Given the description of an element on the screen output the (x, y) to click on. 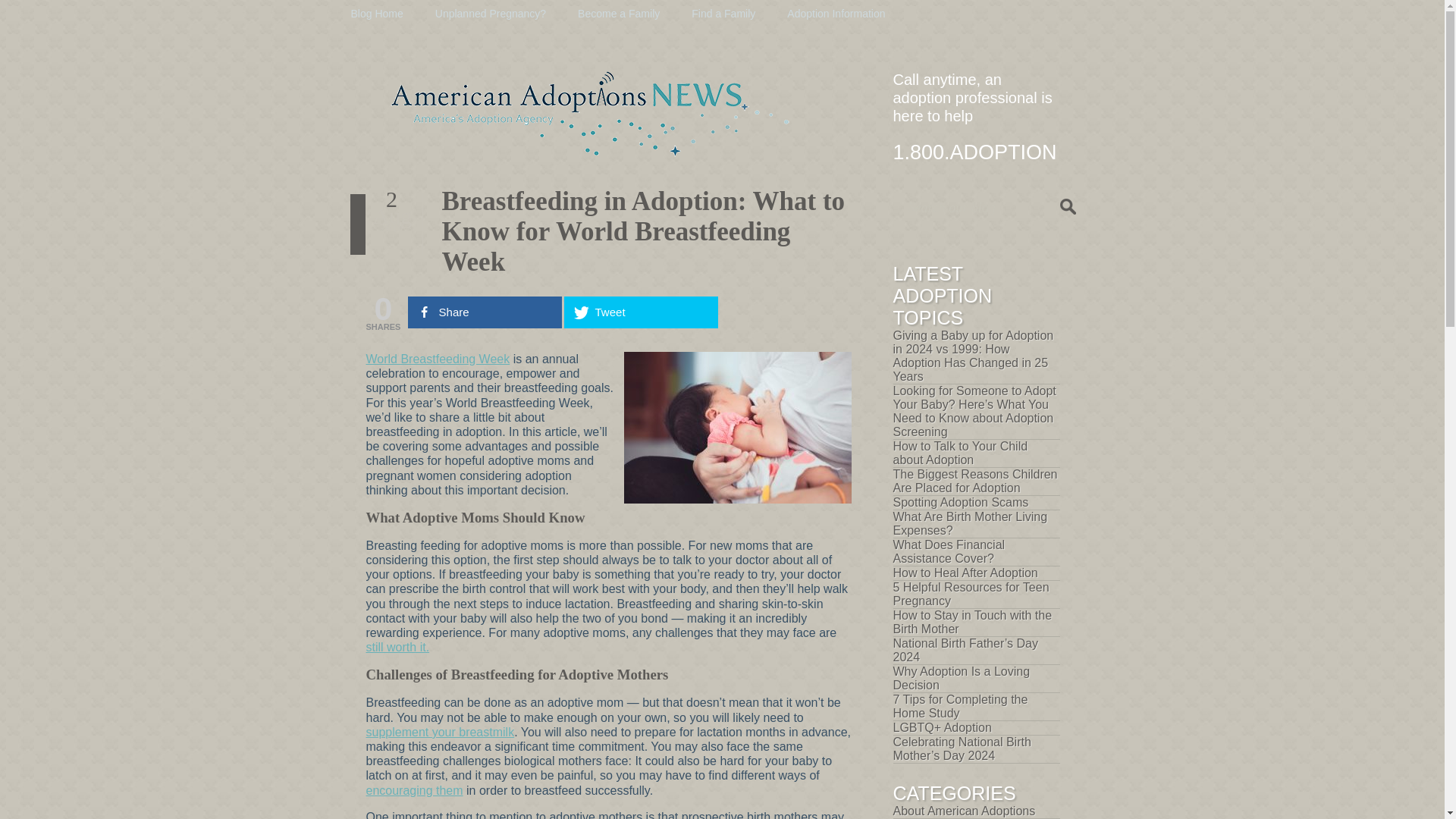
World Breastfeeding Week (437, 358)
Find a Family (723, 13)
supplement your breastmilk (439, 731)
still worth it. (397, 646)
Share (484, 312)
Become a Family (618, 13)
Search our blog (988, 207)
Tweet (640, 312)
Adoption Information (836, 13)
encouraging them (414, 789)
Unplanned Pregnancy? (490, 13)
Blog Home (376, 13)
